Given the description of an element on the screen output the (x, y) to click on. 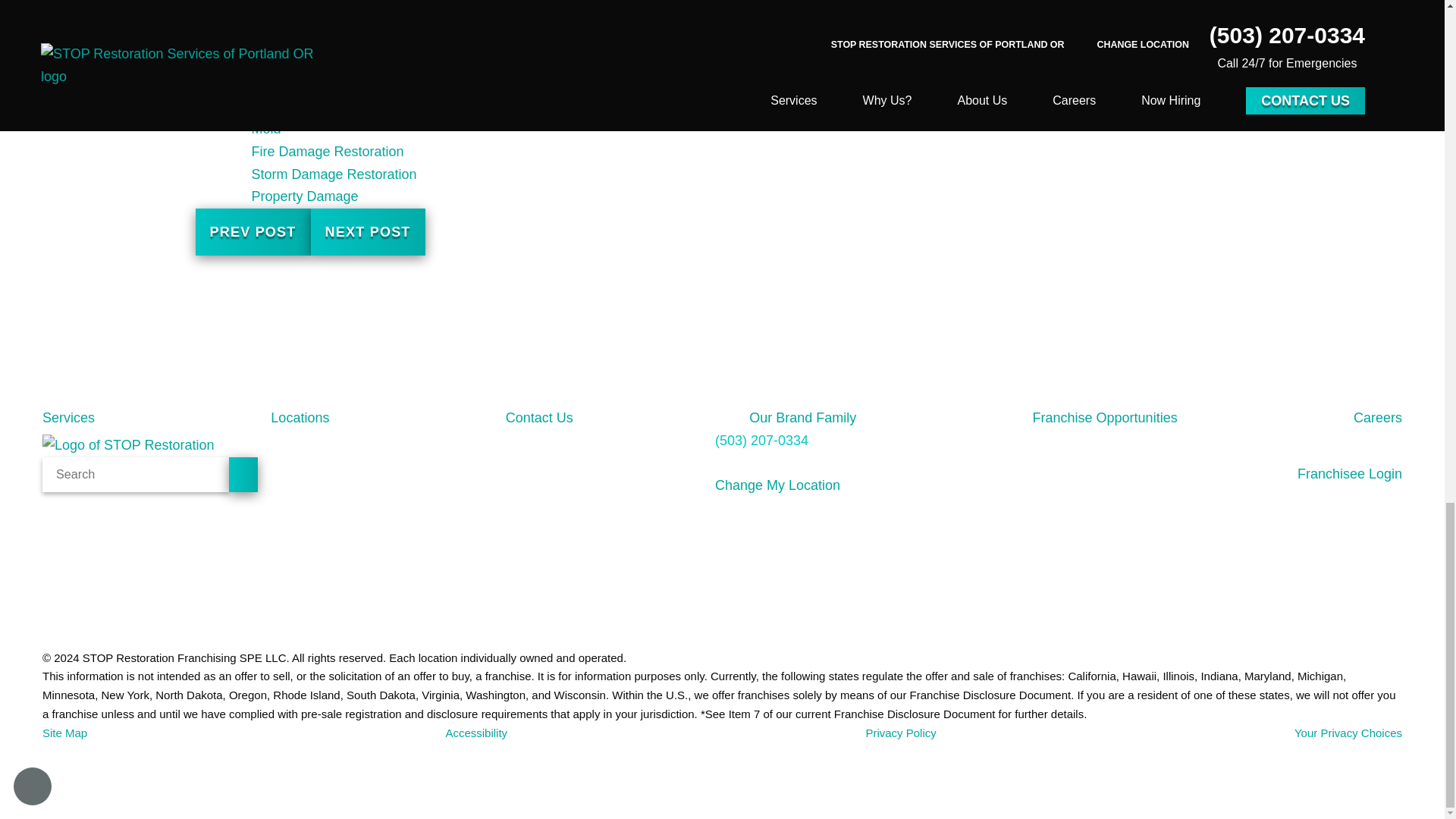
STOP Restoration (149, 445)
